Given the description of an element on the screen output the (x, y) to click on. 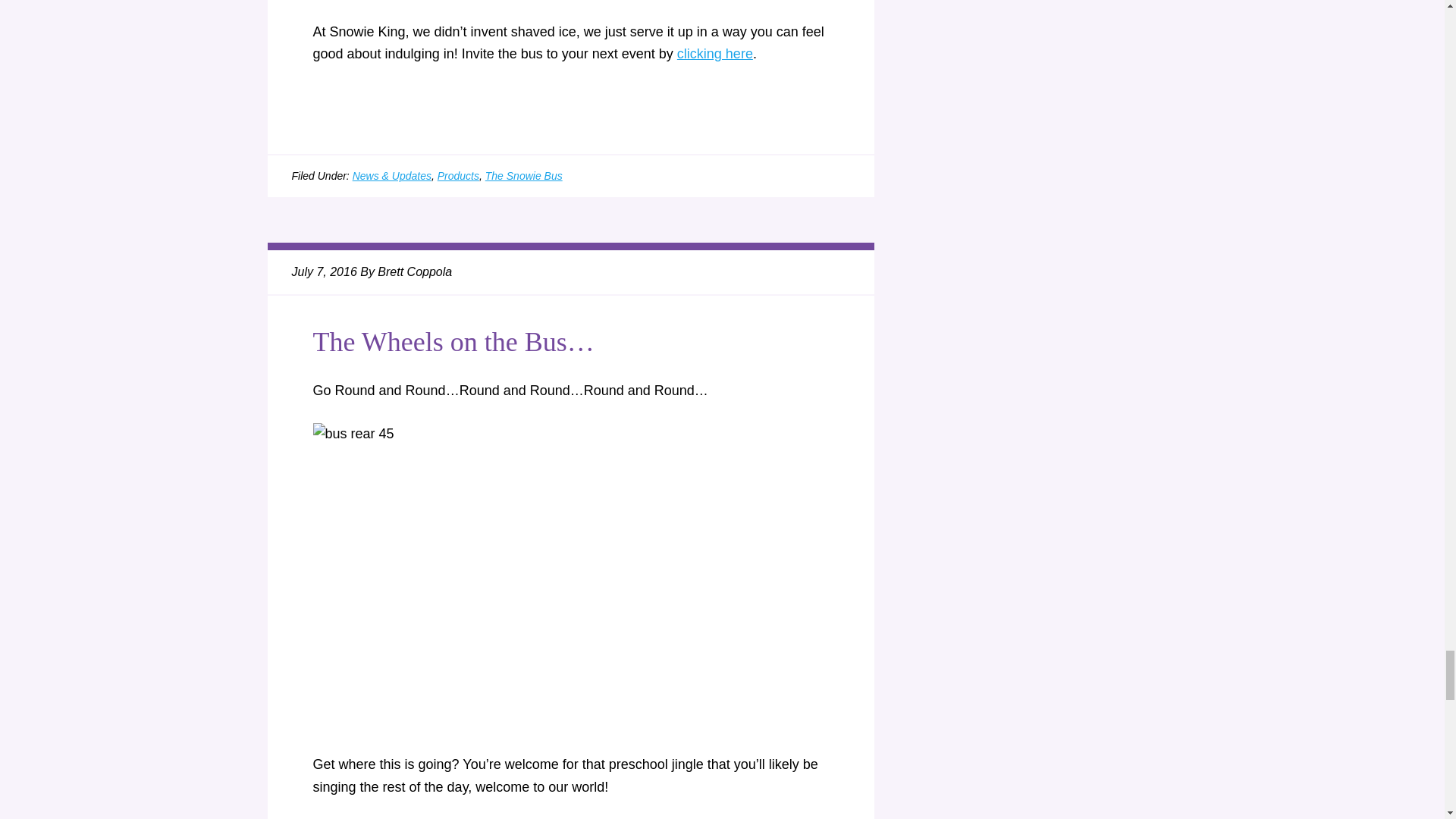
clicking here (714, 53)
Products (458, 175)
The Snowie Bus (523, 175)
